Given the description of an element on the screen output the (x, y) to click on. 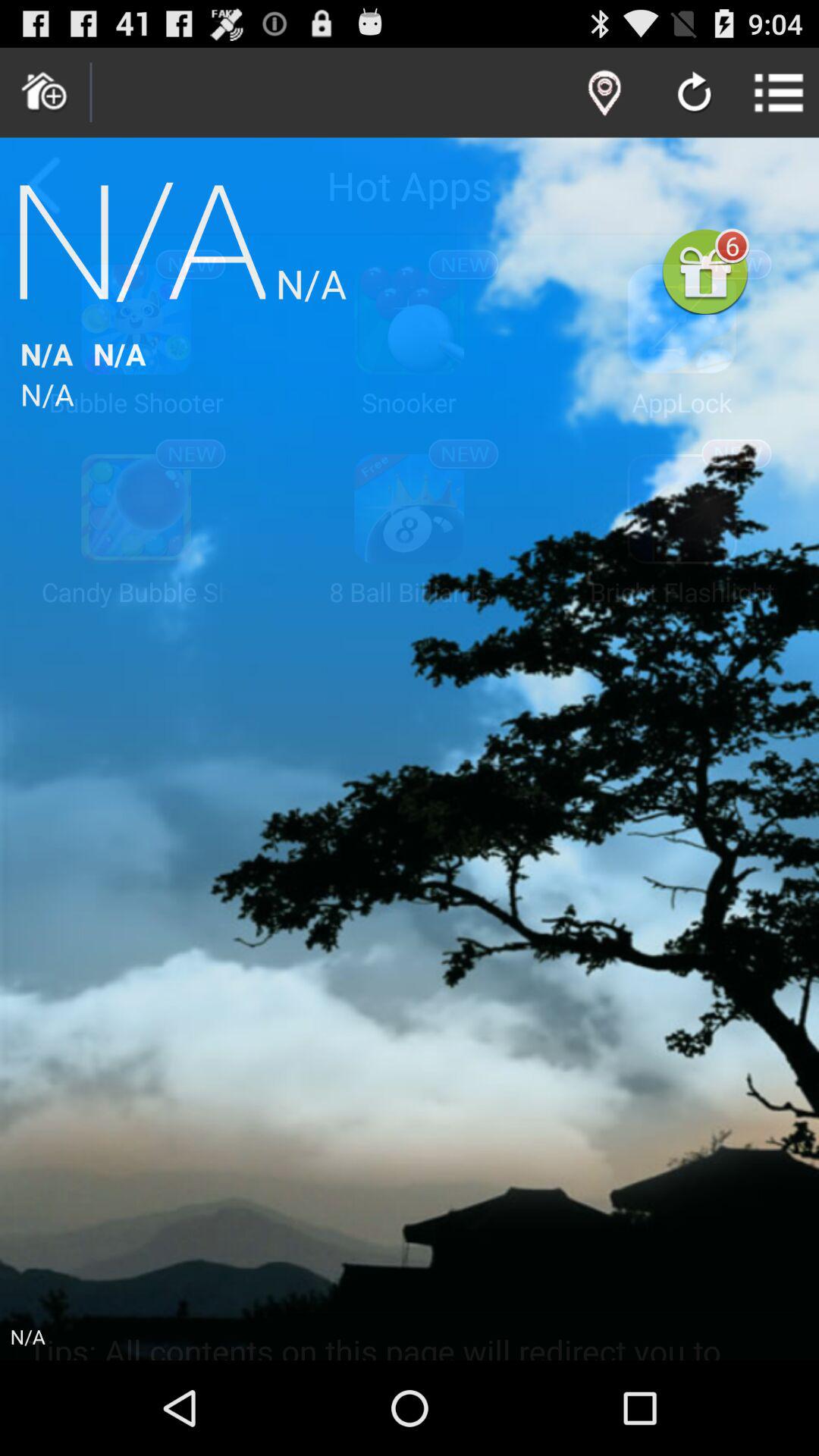
open options (779, 92)
